Given the description of an element on the screen output the (x, y) to click on. 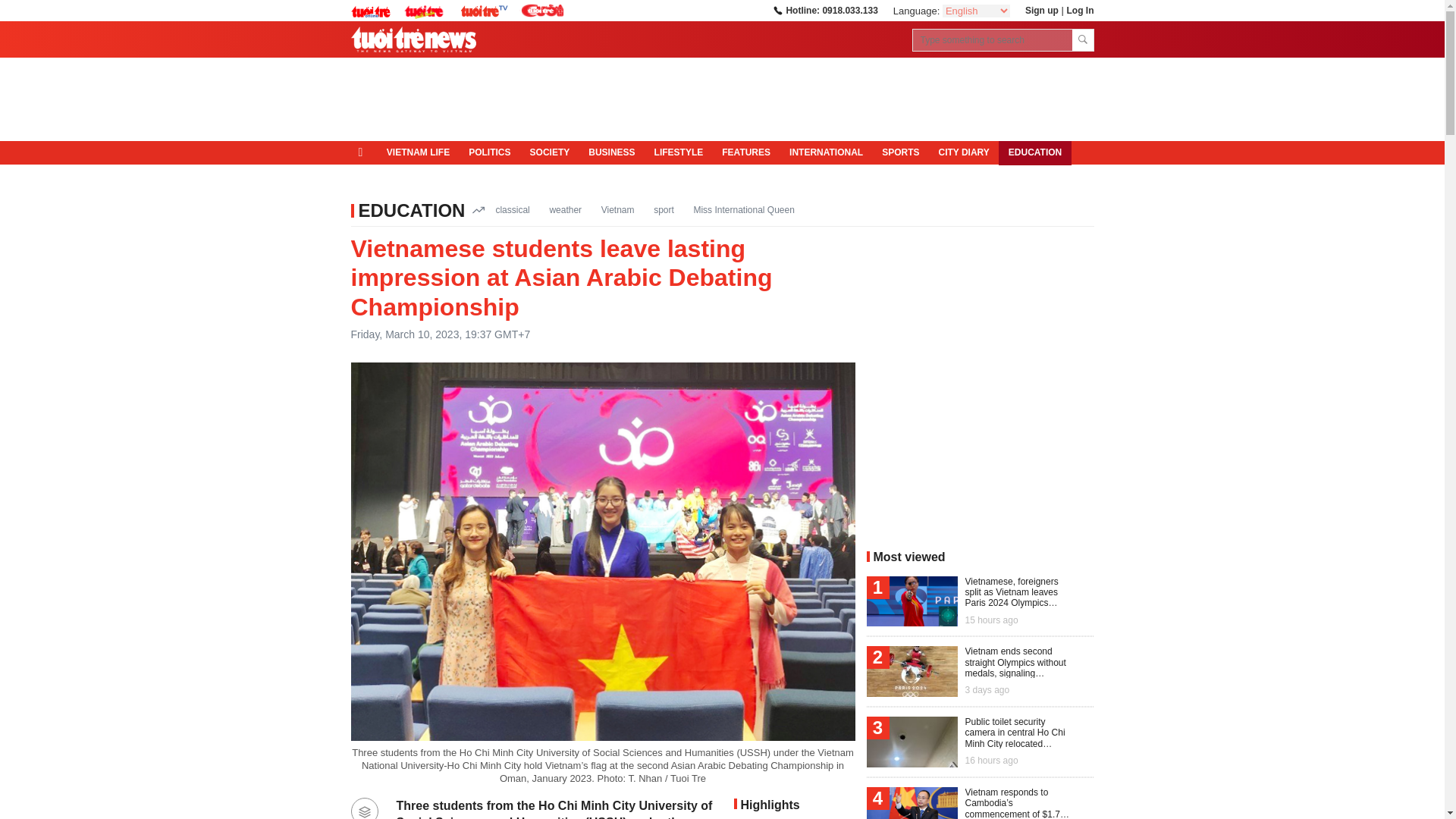
Vietnam (617, 209)
SPORTS (900, 152)
International (826, 152)
Vietname Life (417, 152)
home (363, 152)
Hot Line (824, 9)
Society (549, 152)
VIETNAM LIFE (417, 152)
MEDIA (374, 177)
INTERNATIONAL (826, 152)
